Given the description of an element on the screen output the (x, y) to click on. 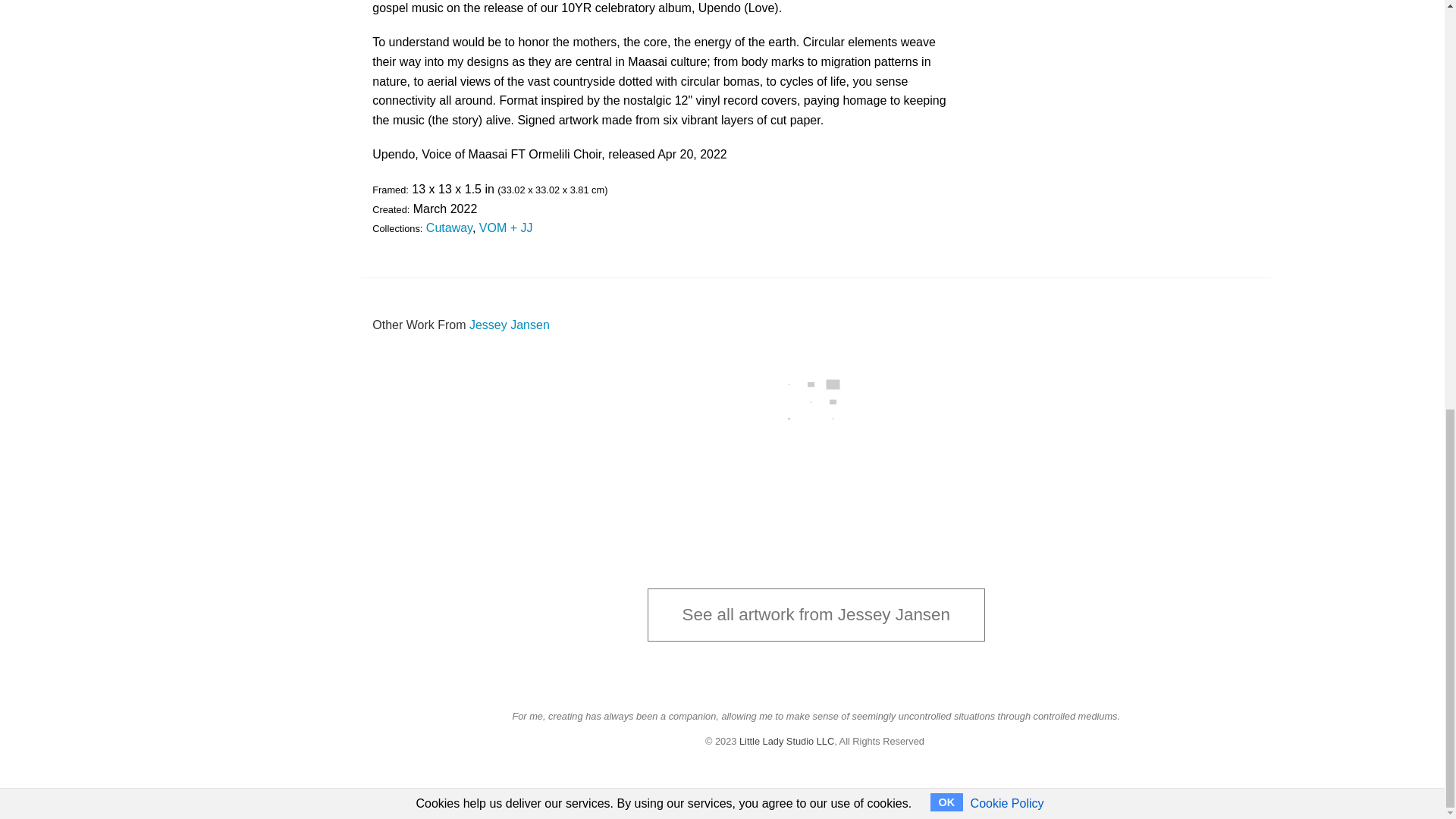
Cutaway (448, 227)
Little Lady Studio LLC (786, 740)
Jessey Jansen (509, 324)
See all artwork from Jessey Jansen (816, 614)
